Given the description of an element on the screen output the (x, y) to click on. 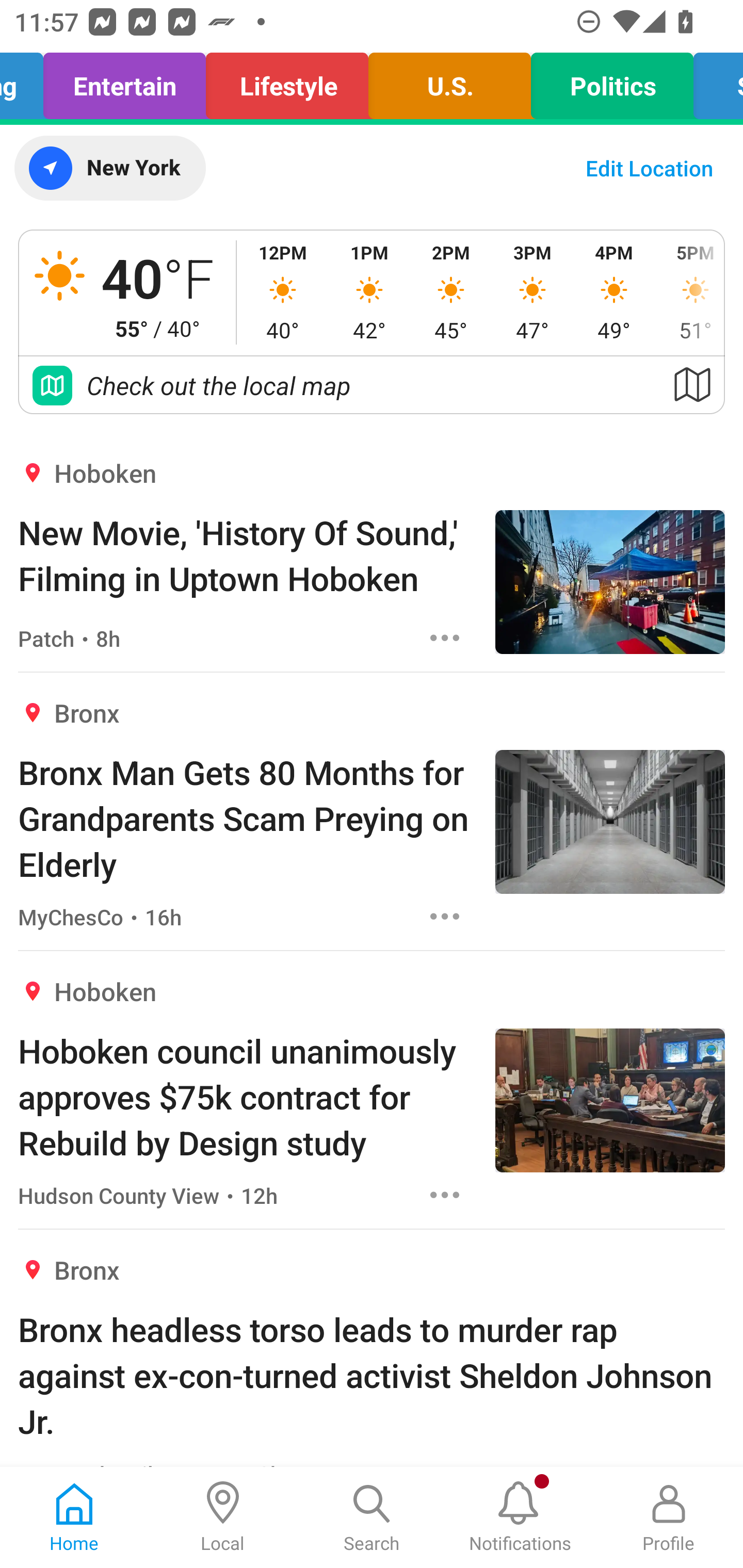
Entertain (124, 81)
Lifestyle (286, 81)
U.S. (449, 81)
Politics (612, 81)
New York (109, 168)
Edit Location (648, 168)
12PM 40° (282, 291)
1PM 42° (369, 291)
2PM 45° (450, 291)
3PM 47° (532, 291)
4PM 49° (613, 291)
5PM 51° (689, 291)
Check out the local map (371, 384)
Options (444, 638)
Options (444, 916)
Options (444, 1194)
Local (222, 1517)
Search (371, 1517)
Notifications, New notification Notifications (519, 1517)
Profile (668, 1517)
